Given the description of an element on the screen output the (x, y) to click on. 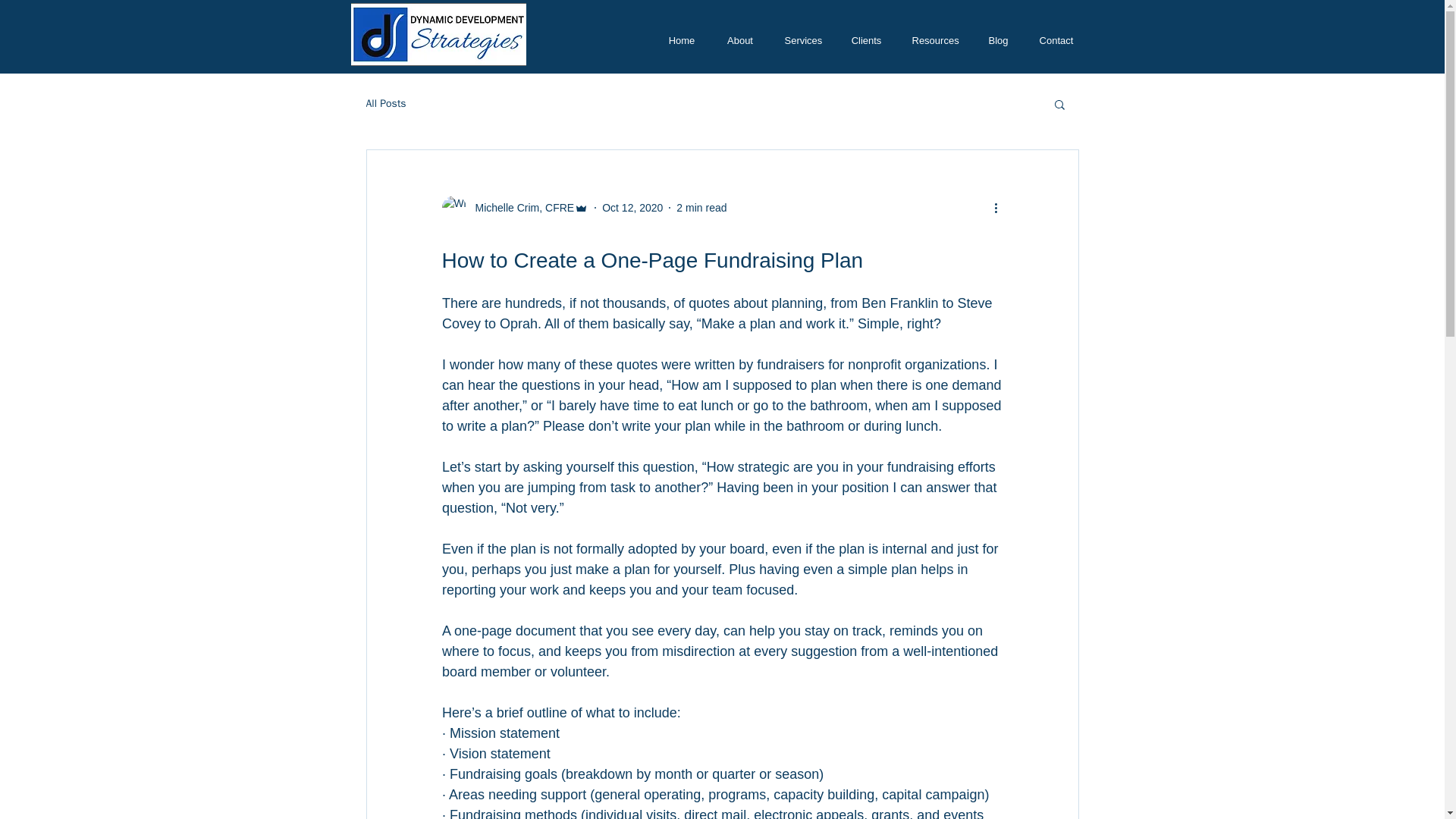
Blog (998, 40)
Home (681, 40)
All Posts (385, 103)
Resources (934, 40)
2 min read (701, 207)
Dynamic Development Strategies, LLC (437, 34)
About (740, 40)
Contact (1056, 40)
Oct 12, 2020 (632, 207)
Clients (865, 40)
Michelle Crim, CFRE (514, 207)
Services (801, 40)
Michelle Crim, CFRE (519, 207)
